Given the description of an element on the screen output the (x, y) to click on. 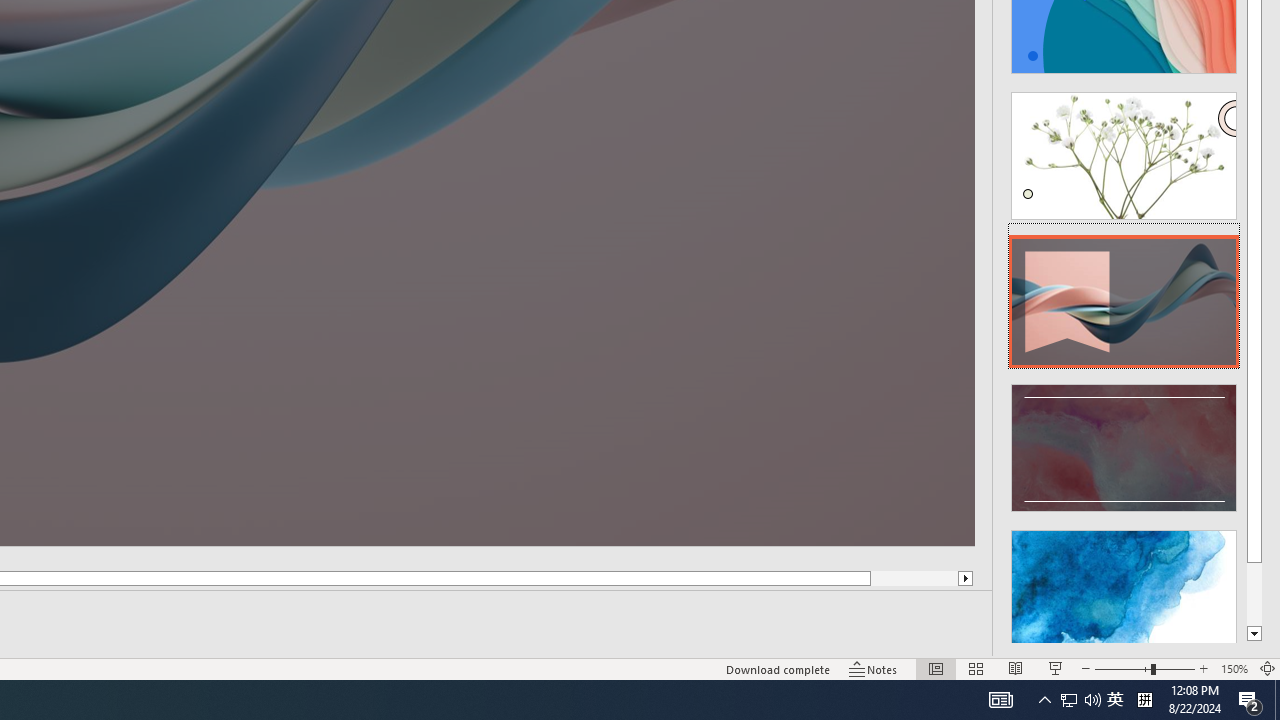
Download complete  (778, 668)
Design Idea (1124, 587)
Zoom 150% (1234, 668)
